Given the description of an element on the screen output the (x, y) to click on. 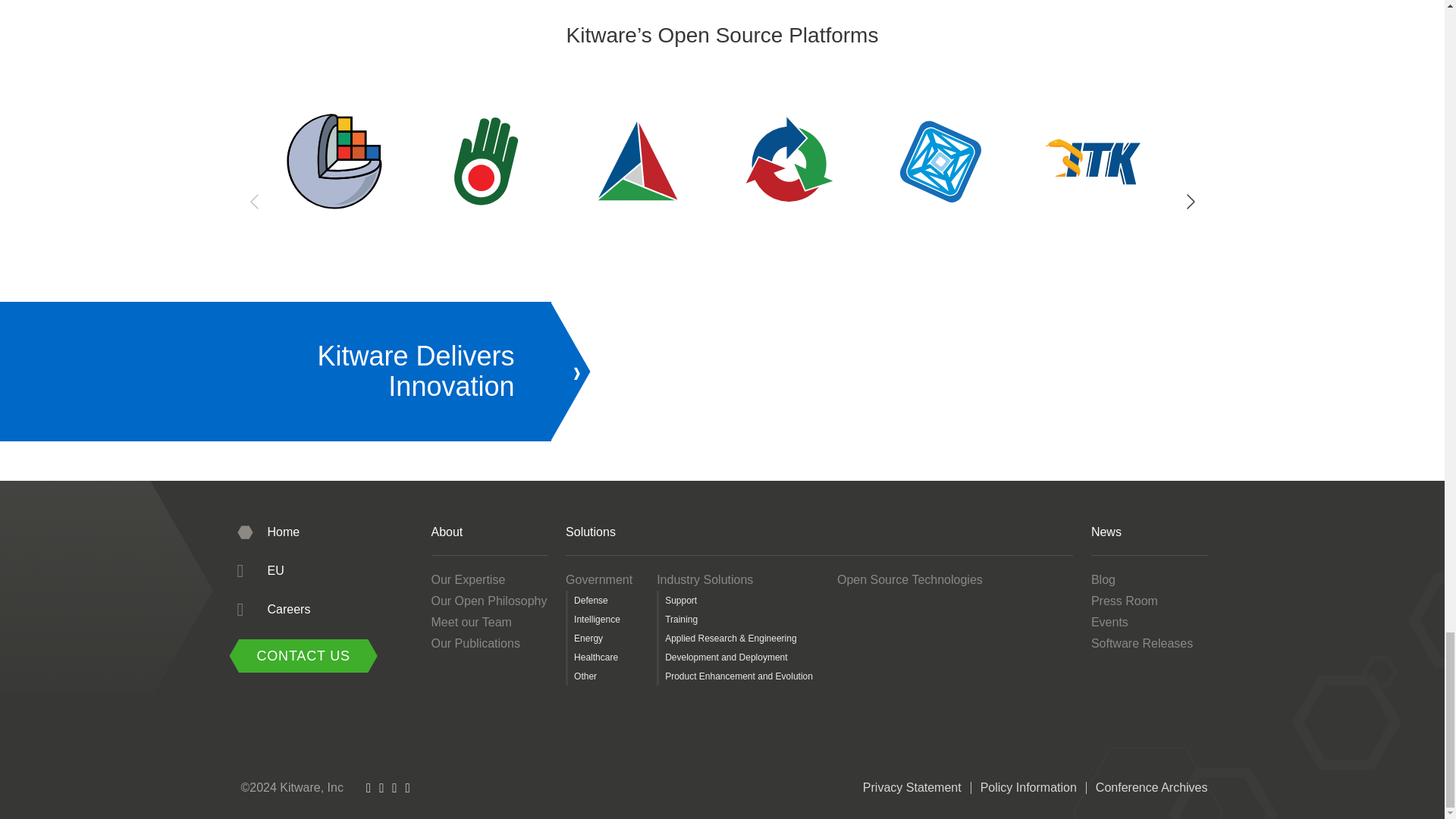
Previous slide (254, 201)
Next slide (1188, 201)
